Given the description of an element on the screen output the (x, y) to click on. 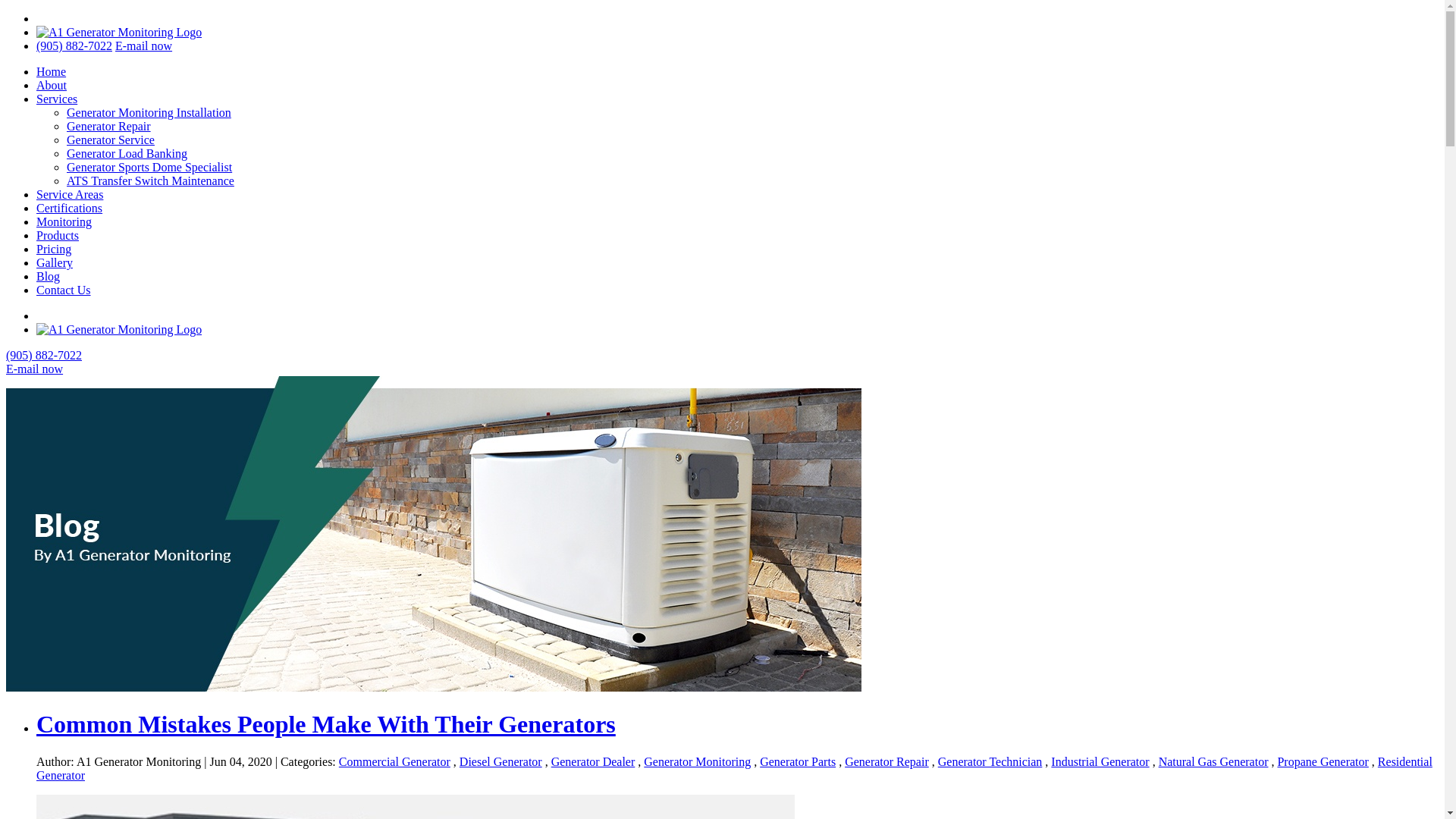
Generator Repair Element type: text (108, 125)
Blog Element type: text (47, 275)
Home Element type: text (50, 71)
Residential Generator Element type: text (734, 768)
Certifications Element type: text (69, 207)
Generator Dealer Element type: text (593, 761)
Generator Service Element type: text (110, 139)
Generator Load Banking Element type: text (126, 153)
Generator Monitoring Element type: text (696, 761)
(905) 882-7022 Element type: text (43, 354)
About Element type: text (51, 84)
Generator Sports Dome Specialist Element type: text (149, 166)
ATS Transfer Switch Maintenance Element type: text (150, 180)
Generator Technician Element type: text (990, 761)
Products Element type: text (57, 235)
Generator Monitoring Installation Element type: text (148, 112)
(905) 882-7022 Element type: text (74, 45)
Monitoring Element type: text (63, 221)
Generator Repair Element type: text (886, 761)
E-mail now Element type: text (143, 45)
Services Element type: text (56, 98)
E-mail now Element type: text (34, 368)
Commercial Generator Element type: text (394, 761)
Diesel Generator Element type: text (500, 761)
Natural Gas Generator Element type: text (1213, 761)
Service Areas Element type: text (69, 194)
Contact Us Element type: text (63, 289)
Pricing Element type: text (53, 248)
Gallery Element type: text (54, 262)
Propane Generator Element type: text (1322, 761)
Industrial Generator Element type: text (1099, 761)
Common Mistakes People Make With Their Generators Element type: text (325, 723)
Generator Parts Element type: text (797, 761)
